Given the description of an element on the screen output the (x, y) to click on. 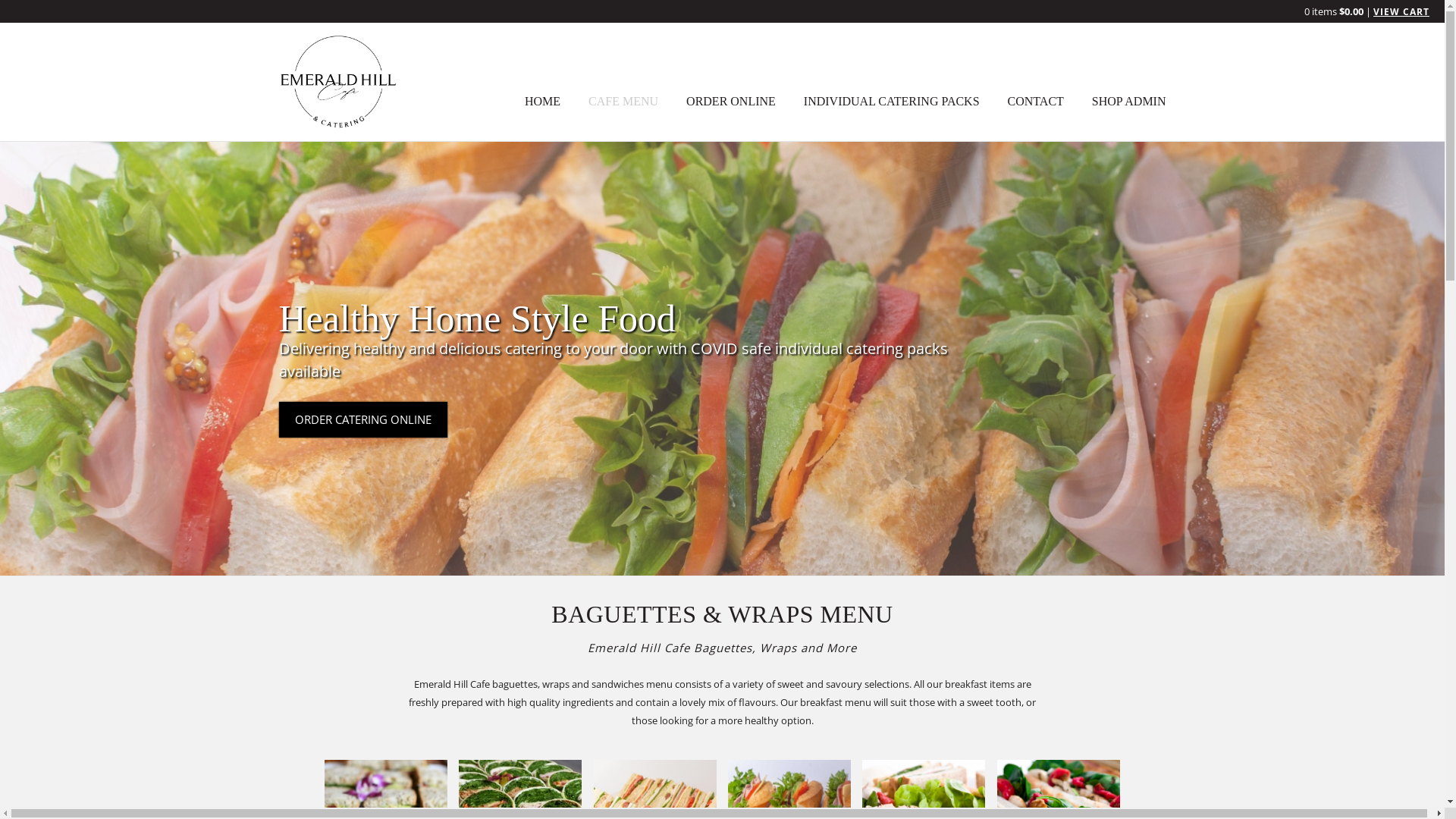
INDIVIDUAL CATERING PACKS Element type: text (891, 101)
VIEW CART Element type: text (1401, 10)
HOME Element type: text (542, 101)
ORDER CATERING ONLINE Element type: text (363, 419)
SHOP ADMIN Element type: text (1129, 101)
CONTACT Element type: text (1035, 101)
ORDER ONLINE Element type: text (730, 101)
CAFE MENU Element type: text (623, 101)
